Given the description of an element on the screen output the (x, y) to click on. 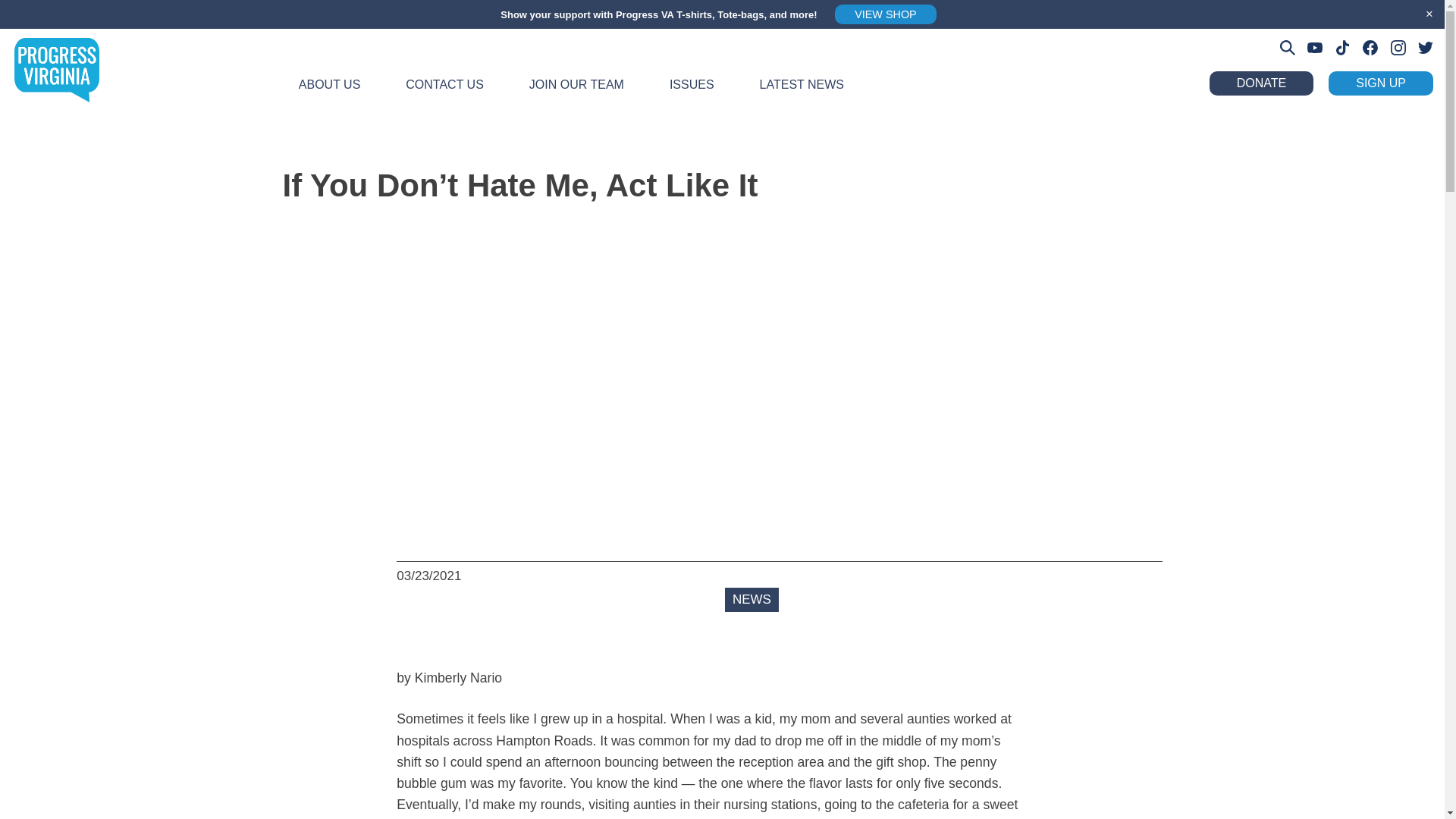
VIEW SHOP (885, 14)
ABOUT US (330, 94)
ISSUES (691, 94)
DONATE (1261, 83)
DONATE (1264, 83)
Search (33, 16)
SIGN UP (1384, 83)
JOIN OUR TEAM (576, 94)
LATEST NEWS (801, 94)
CONTACT US (444, 94)
SIGN UP (1379, 83)
VIEW SHOP (881, 14)
